Given the description of an element on the screen output the (x, y) to click on. 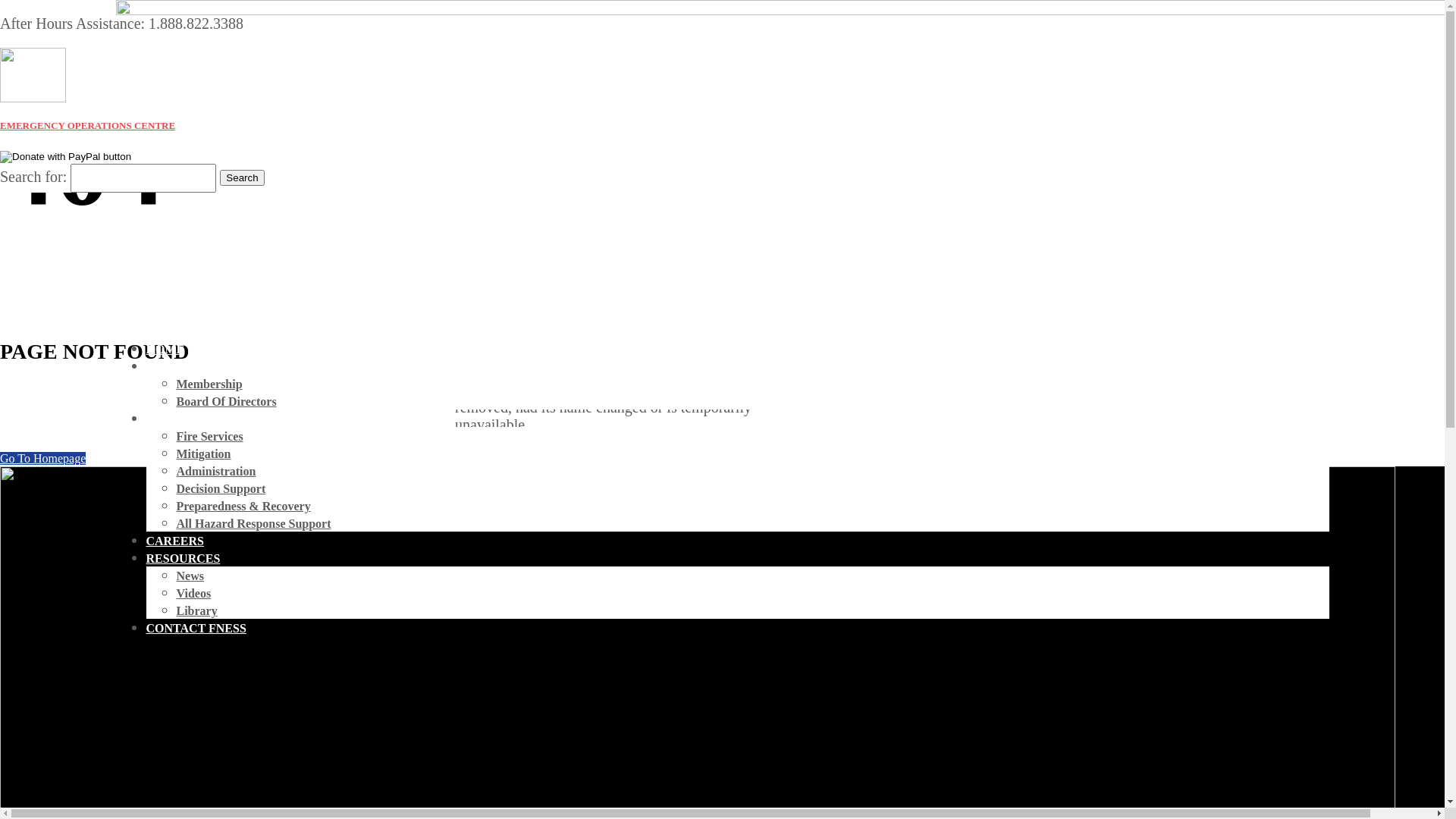
Decision Support Element type: text (220, 488)
All Hazard Response Support Element type: text (252, 523)
Membership Element type: text (208, 383)
CONTACT FNESS Element type: text (195, 627)
Search Element type: text (241, 177)
Administration Element type: text (215, 470)
Videos Element type: text (192, 592)
Go To Homepage Element type: text (42, 457)
HOME Element type: text (164, 348)
RESOURCES Element type: text (182, 558)
CAREERS Element type: text (174, 540)
PayPal - The safer, easier way to pay online! Element type: hover (65, 156)
News Element type: text (189, 575)
EMERGENCY OPERATIONS CENTRE Element type: text (87, 125)
Library Element type: text (195, 610)
Preparedness & Recovery Element type: text (242, 505)
ABOUT Element type: text (166, 366)
Fire Services Element type: text (208, 435)
CORE PROGRAMS Element type: text (199, 418)
Board Of Directors Element type: text (225, 401)
Mitigation Element type: text (202, 453)
